Given the description of an element on the screen output the (x, y) to click on. 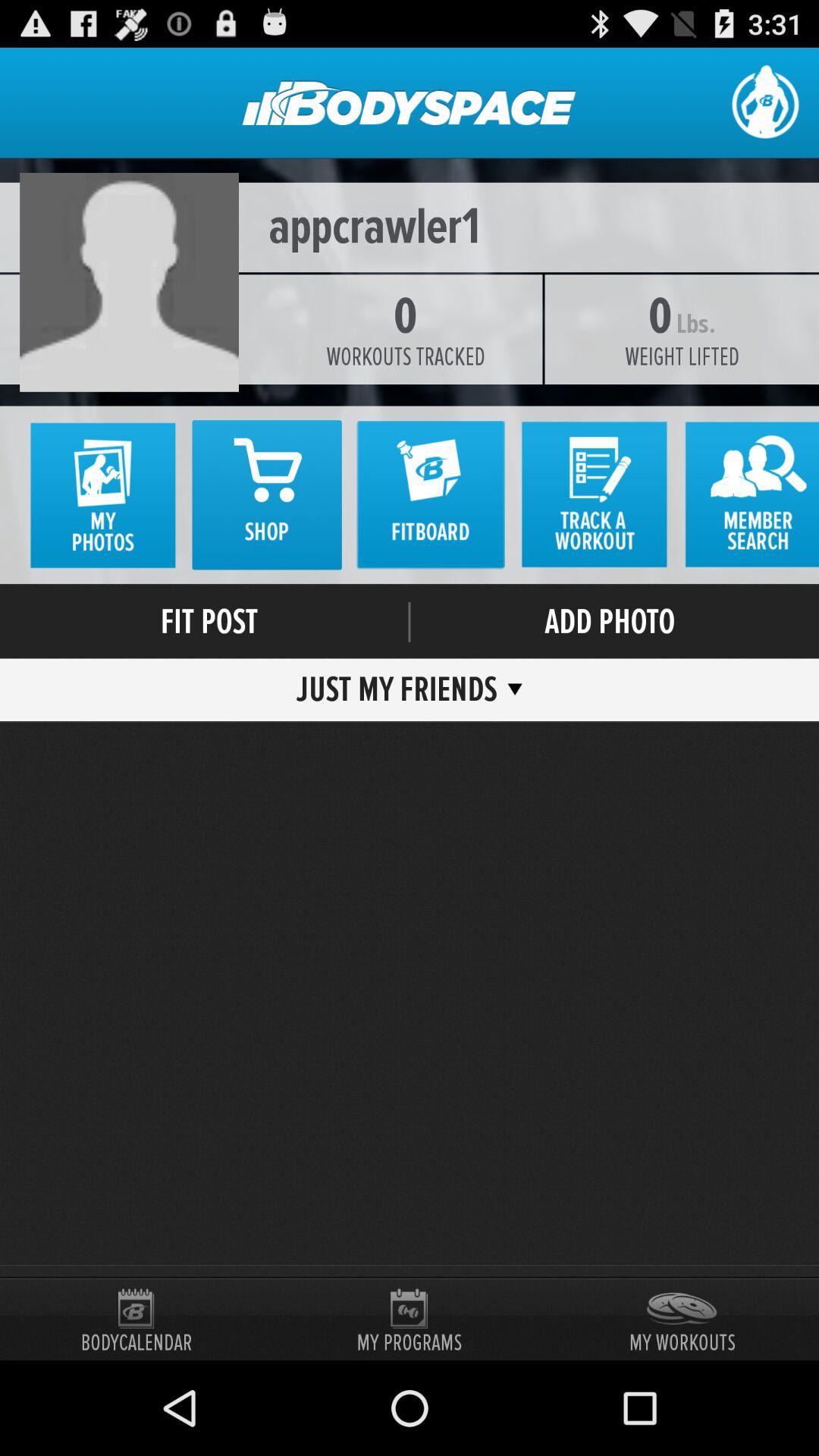
select the lbs. icon (695, 323)
